Given the description of an element on the screen output the (x, y) to click on. 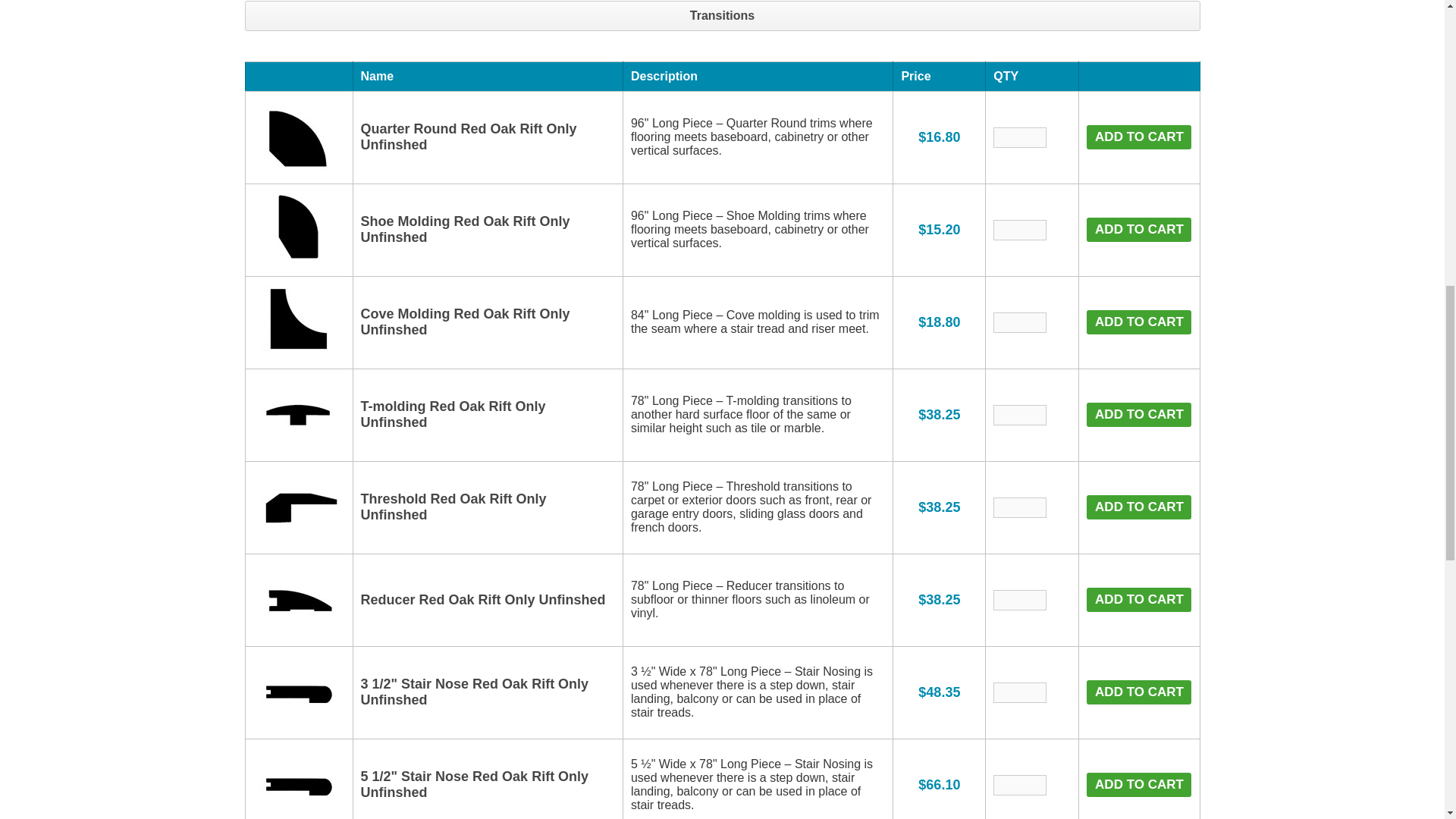
ADD TO CART (1138, 322)
ADD TO CART (1138, 507)
ADD TO CART (1138, 137)
ADD TO CART (1138, 599)
ADD TO CART (1138, 414)
ADD TO CART (1138, 229)
ADD TO CART (1138, 692)
